Given the description of an element on the screen output the (x, y) to click on. 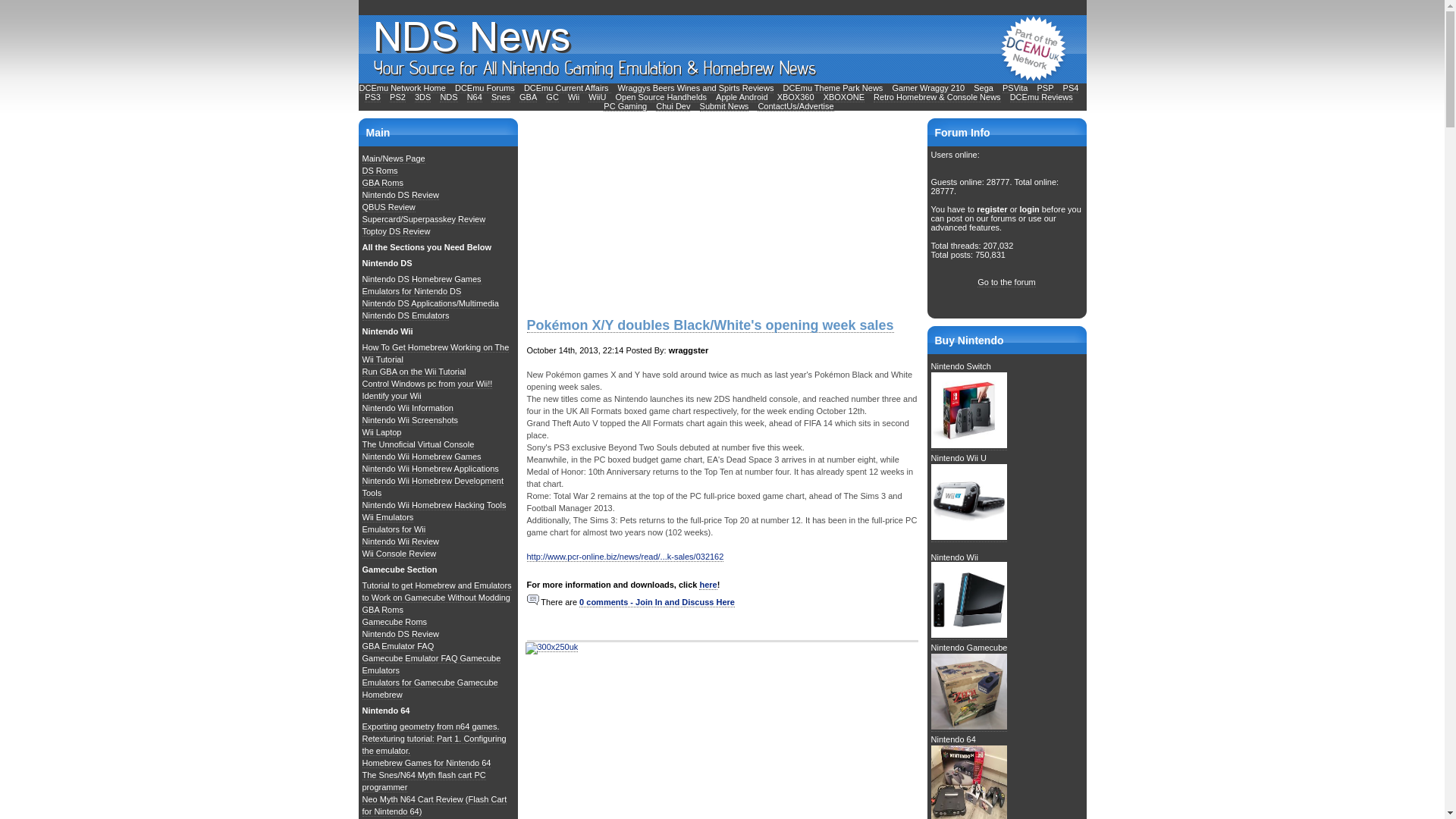
QBUS Review (388, 207)
WiiU (596, 97)
PS4 (1070, 88)
DS Roms (379, 171)
PSVita (1015, 88)
Chui Dev (673, 106)
DCEmu Forums (484, 88)
Gamer Wraggy 210 (927, 88)
NDS (448, 97)
DCEmu Current Affairs (567, 88)
